Given the description of an element on the screen output the (x, y) to click on. 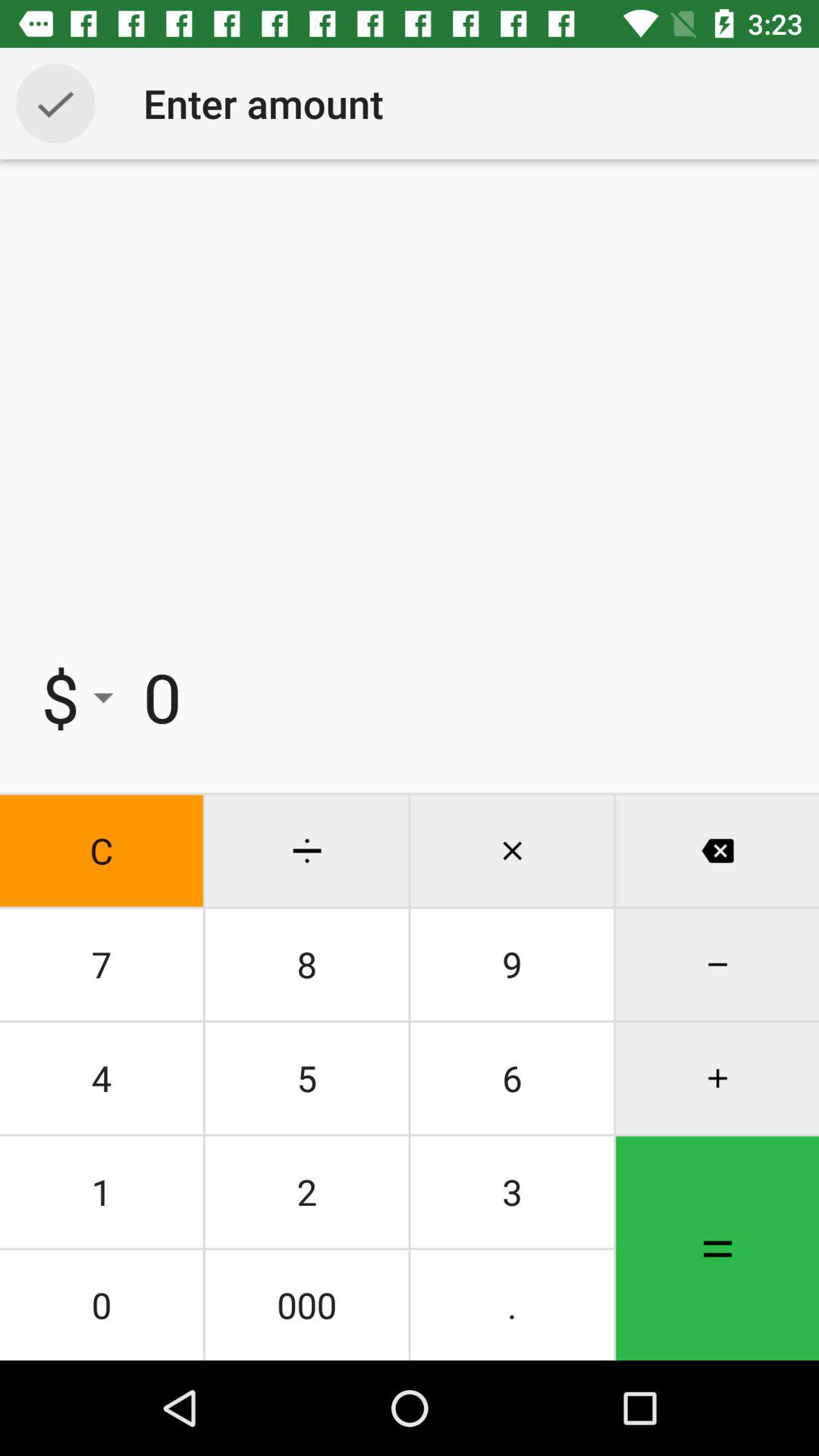
open item to the right of the 5 (511, 1191)
